Given the description of an element on the screen output the (x, y) to click on. 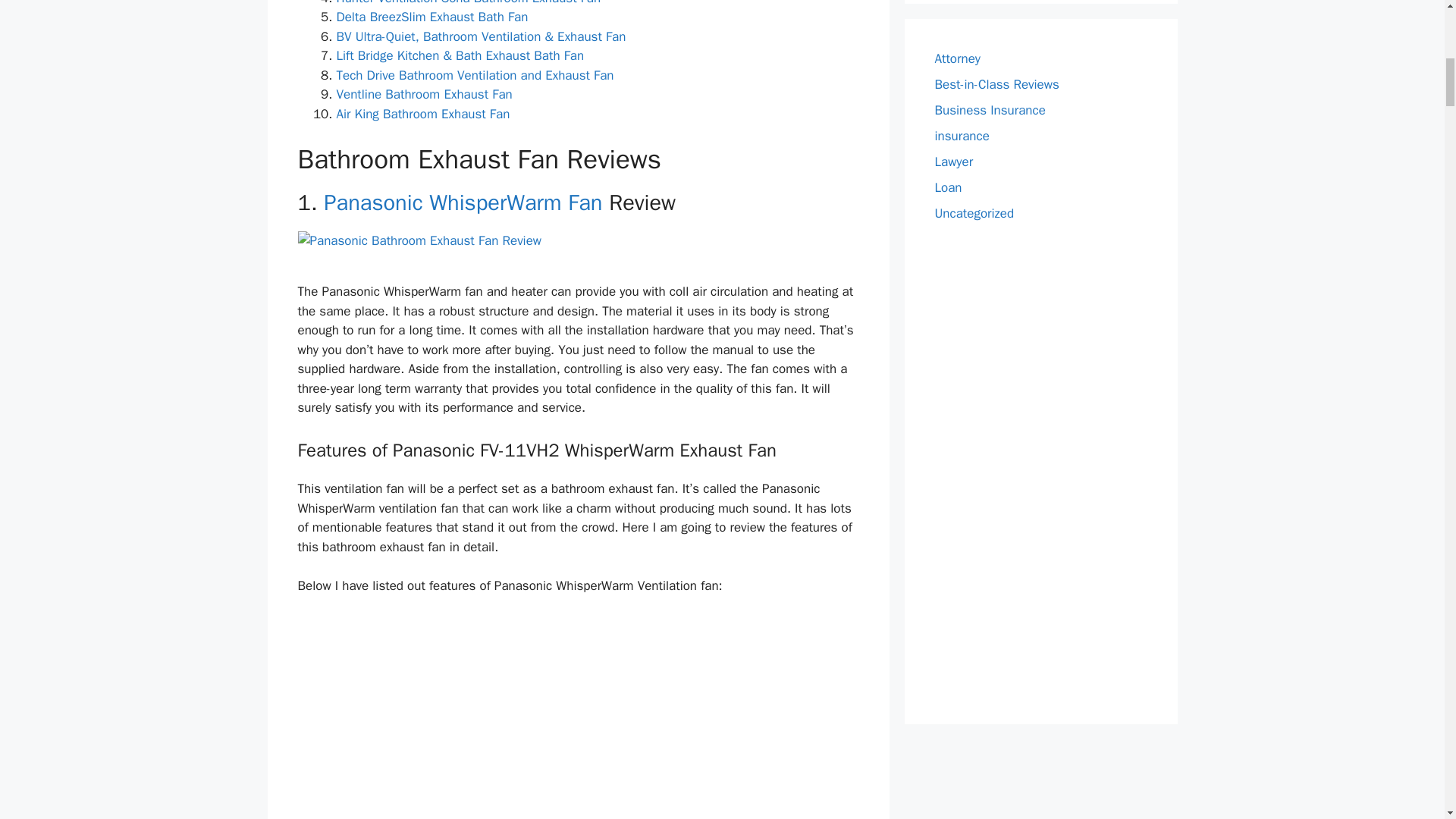
Tech Drive Bathroom Ventilation and Exhaust Fan (475, 75)
Ventline Bathroom Exhaust Fan (424, 94)
Air King Bathroom Exhaust Fan (423, 114)
Hunter Ventilation Sona Bathroom Exhaust Fan (468, 2)
Advertisement (578, 717)
Panasonic WhisperWarm Fan (462, 203)
Delta BreezSlim Exhaust Bath Fan (432, 17)
